Given the description of an element on the screen output the (x, y) to click on. 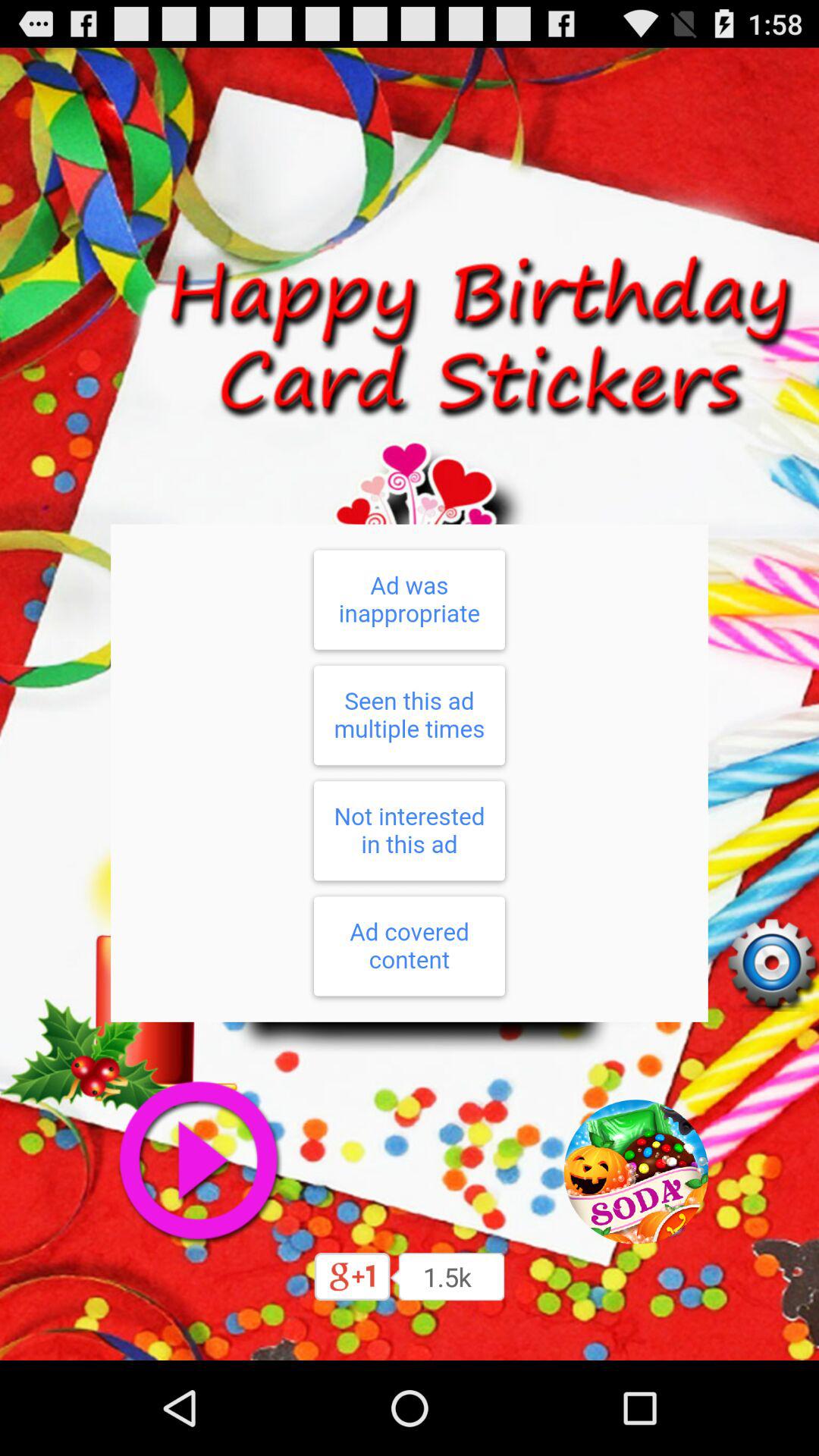
give feedback for advertisement (409, 773)
